Given the description of an element on the screen output the (x, y) to click on. 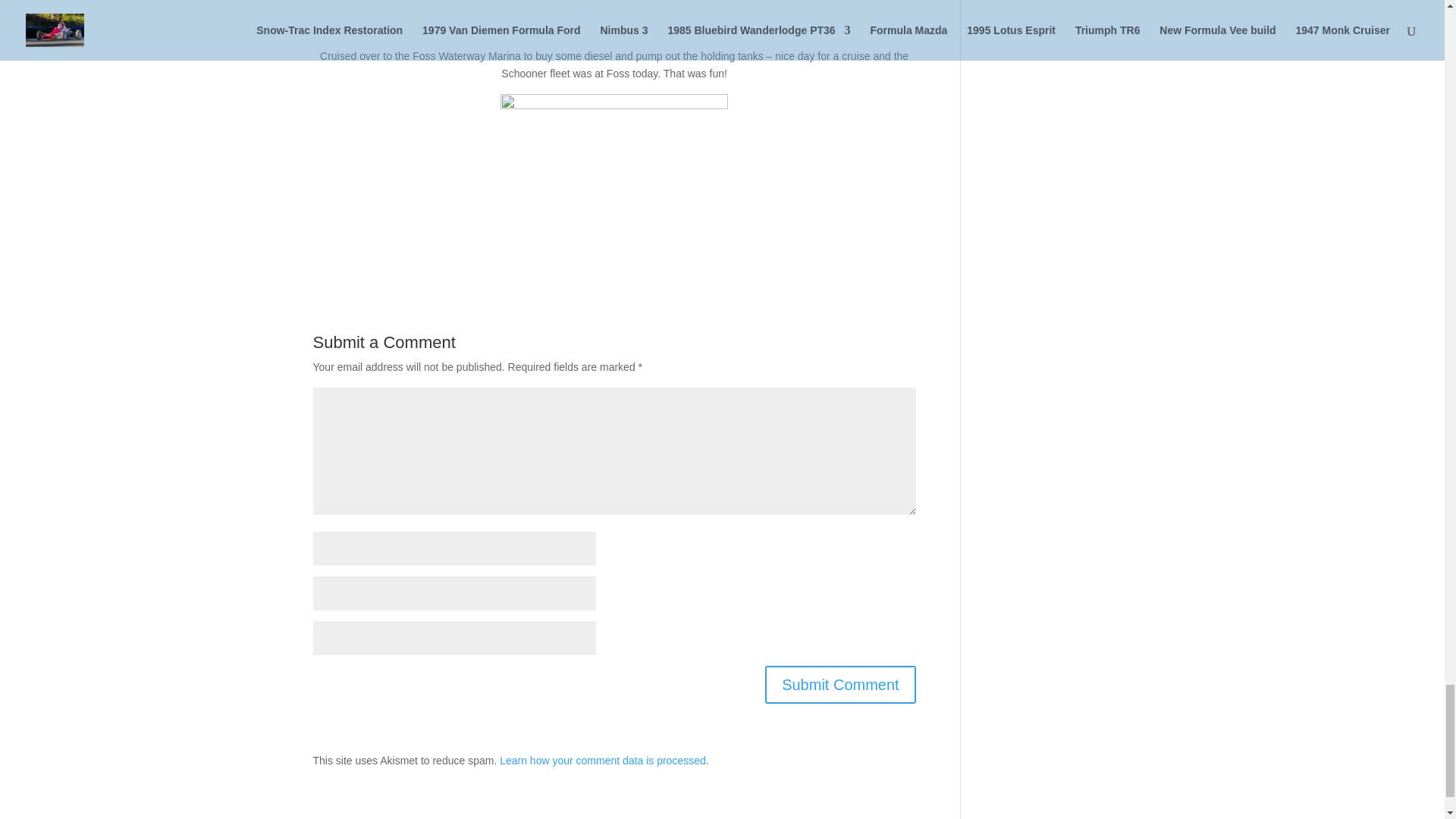
Submit Comment (840, 684)
